Given the description of an element on the screen output the (x, y) to click on. 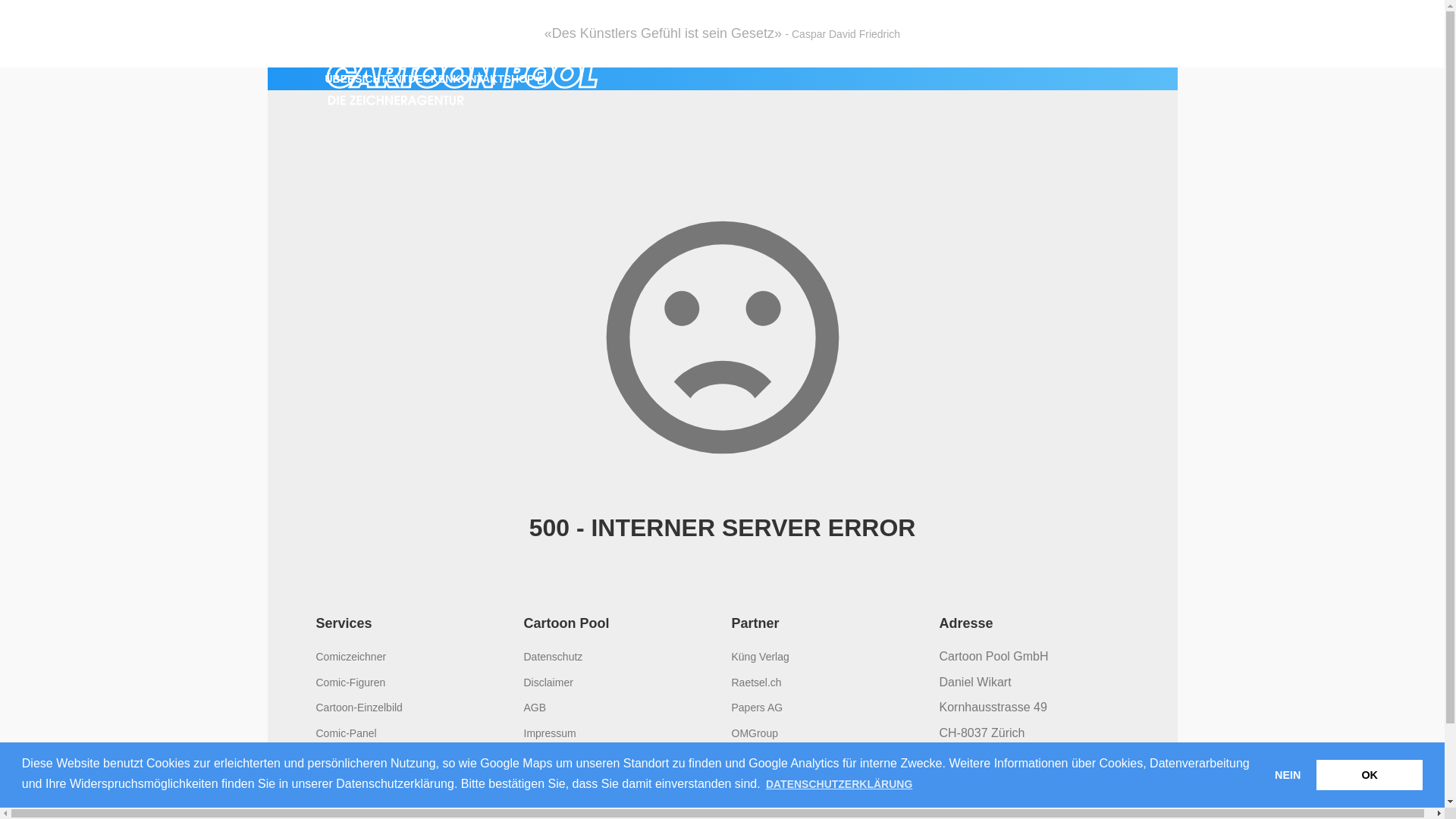
ENTDECKEN Element type: text (419, 78)
NEIN Element type: text (1287, 774)
Comic-Figuren Element type: text (350, 682)
Papers AG Element type: text (756, 707)
Datenschutz Element type: text (552, 656)
Comic-Panel Element type: text (345, 733)
OMGroup Element type: text (754, 733)
SHOP Element type: text (519, 78)
| Element type: text (503, 78)
Cartoon-Einzelbild Element type: text (358, 707)
AGB Element type: text (534, 707)
OK Element type: text (1369, 774)
Disclaimer Element type: text (547, 682)
Raetsel.ch Element type: text (756, 682)
Impressum Element type: text (549, 733)
Comiczeichner Element type: text (350, 656)
KONTAKT Element type: text (477, 78)
